Given the description of an element on the screen output the (x, y) to click on. 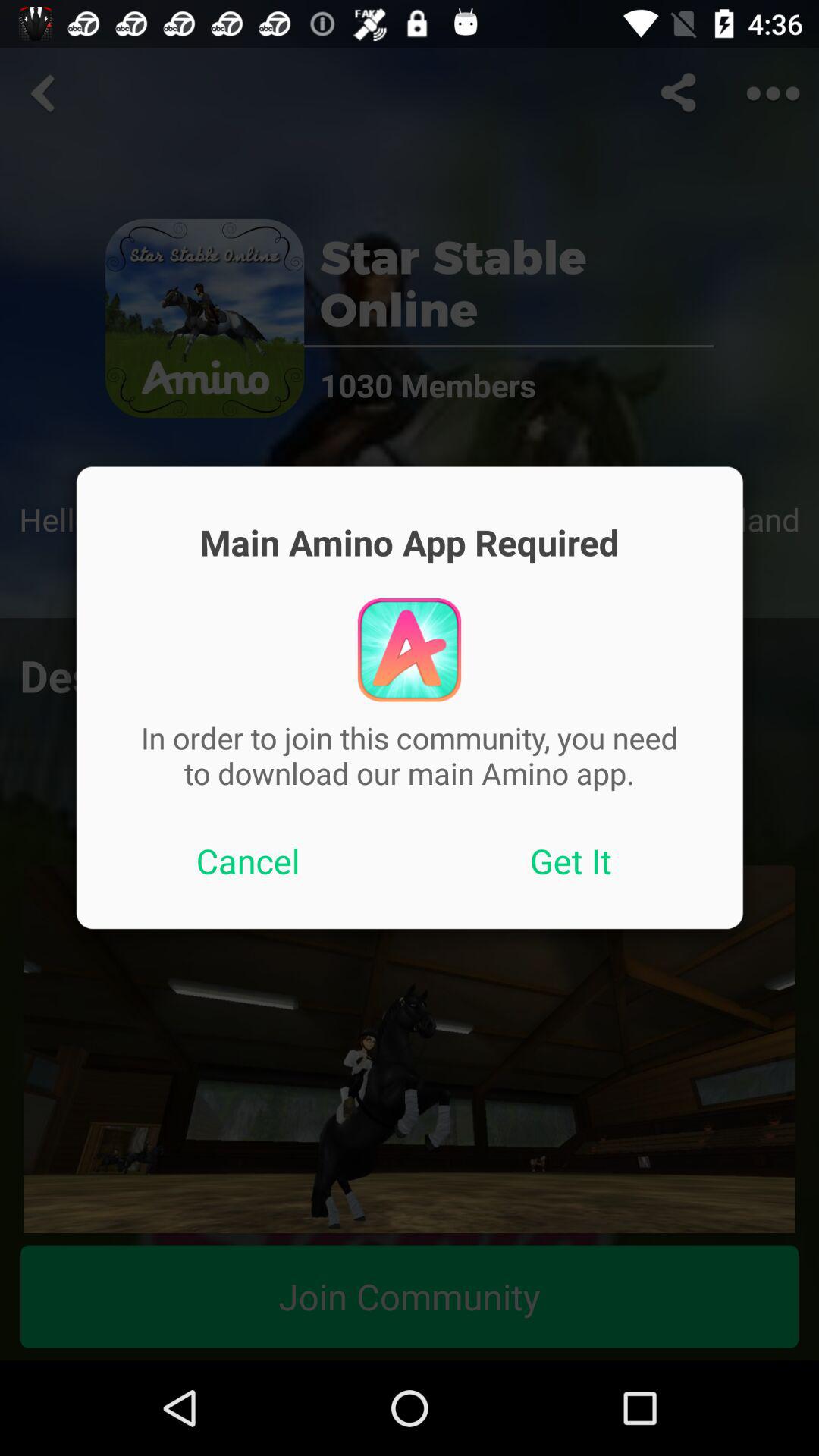
swipe to the cancel icon (247, 860)
